Given the description of an element on the screen output the (x, y) to click on. 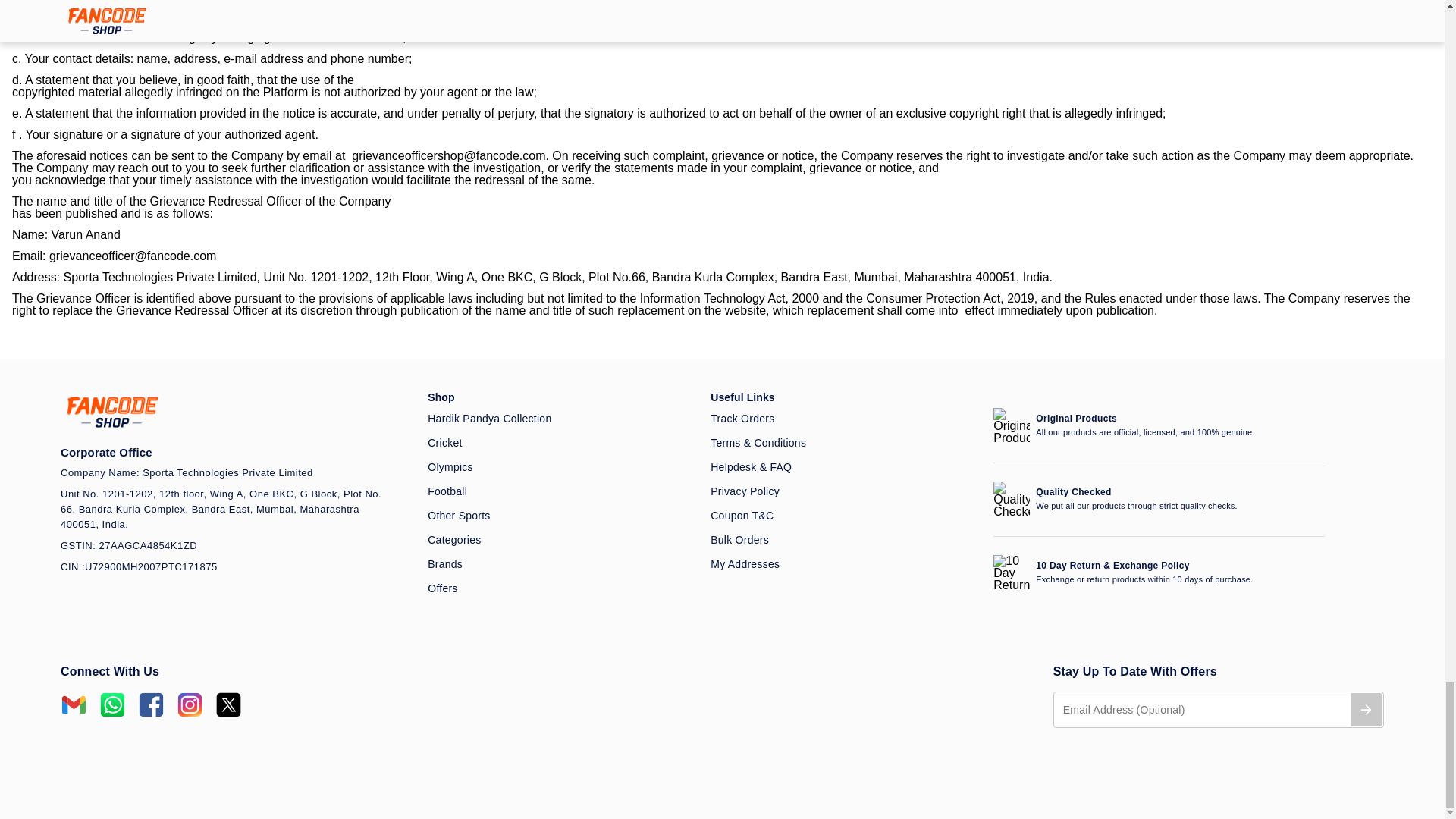
Olympics (560, 467)
Brands (560, 563)
Other Sports (560, 515)
Track Orders (842, 418)
My Addresses (842, 563)
Privacy Policy (842, 491)
Bulk Orders (842, 539)
Football (560, 491)
Cricket (560, 442)
Categories (560, 539)
